Given the description of an element on the screen output the (x, y) to click on. 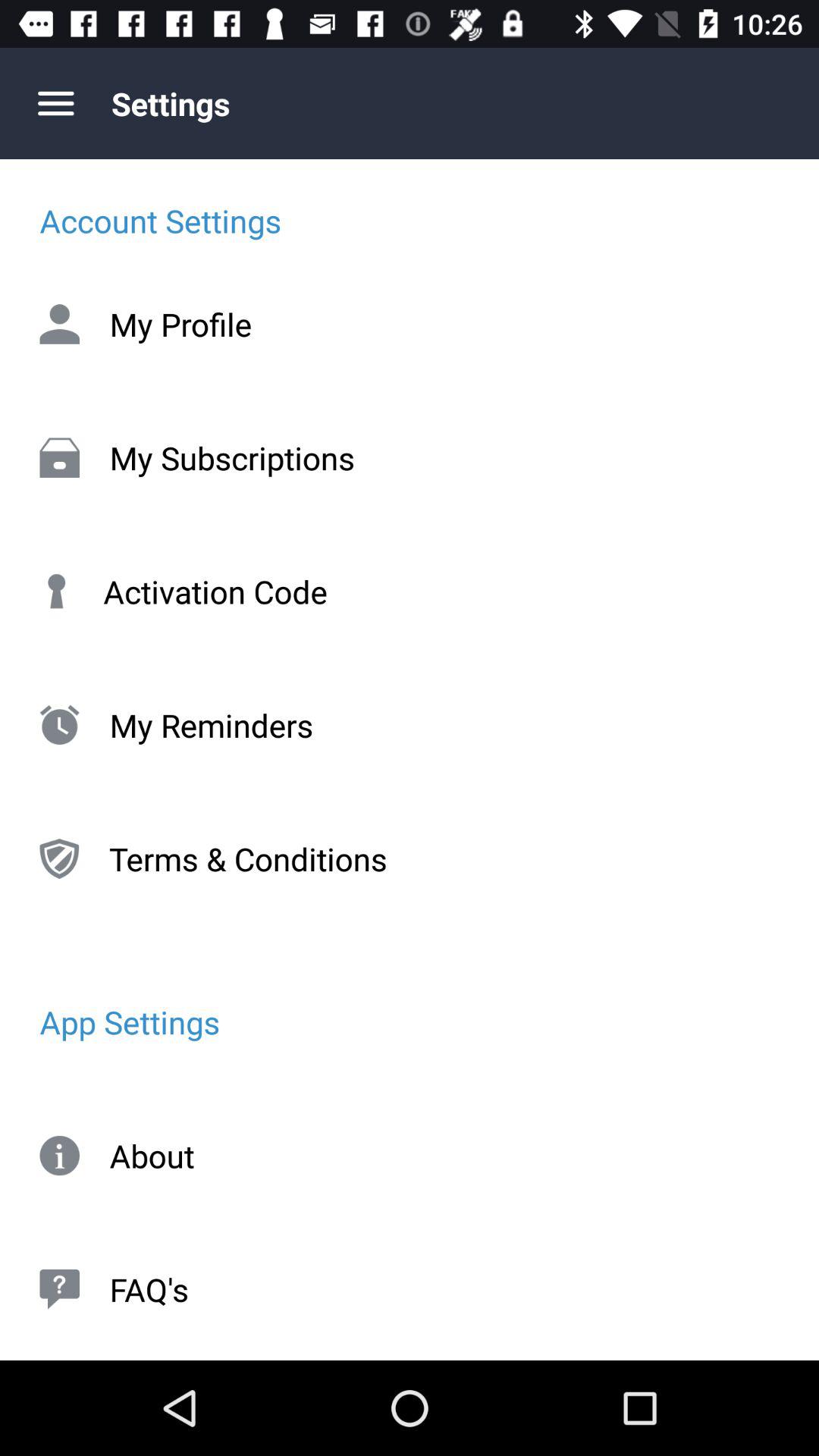
swipe to my profile icon (409, 323)
